Given the description of an element on the screen output the (x, y) to click on. 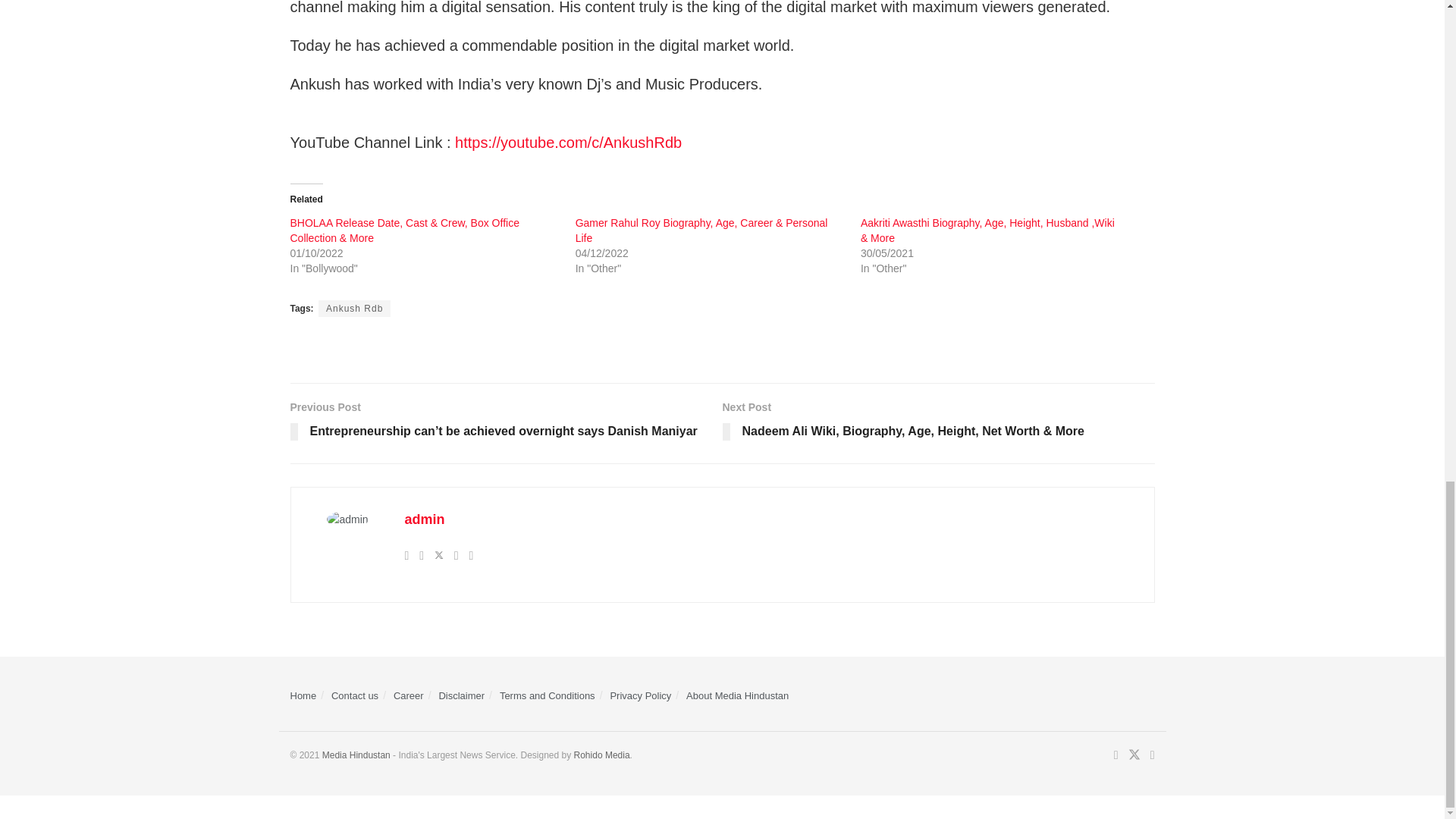
Digital marketing agency (599, 755)
